Given the description of an element on the screen output the (x, y) to click on. 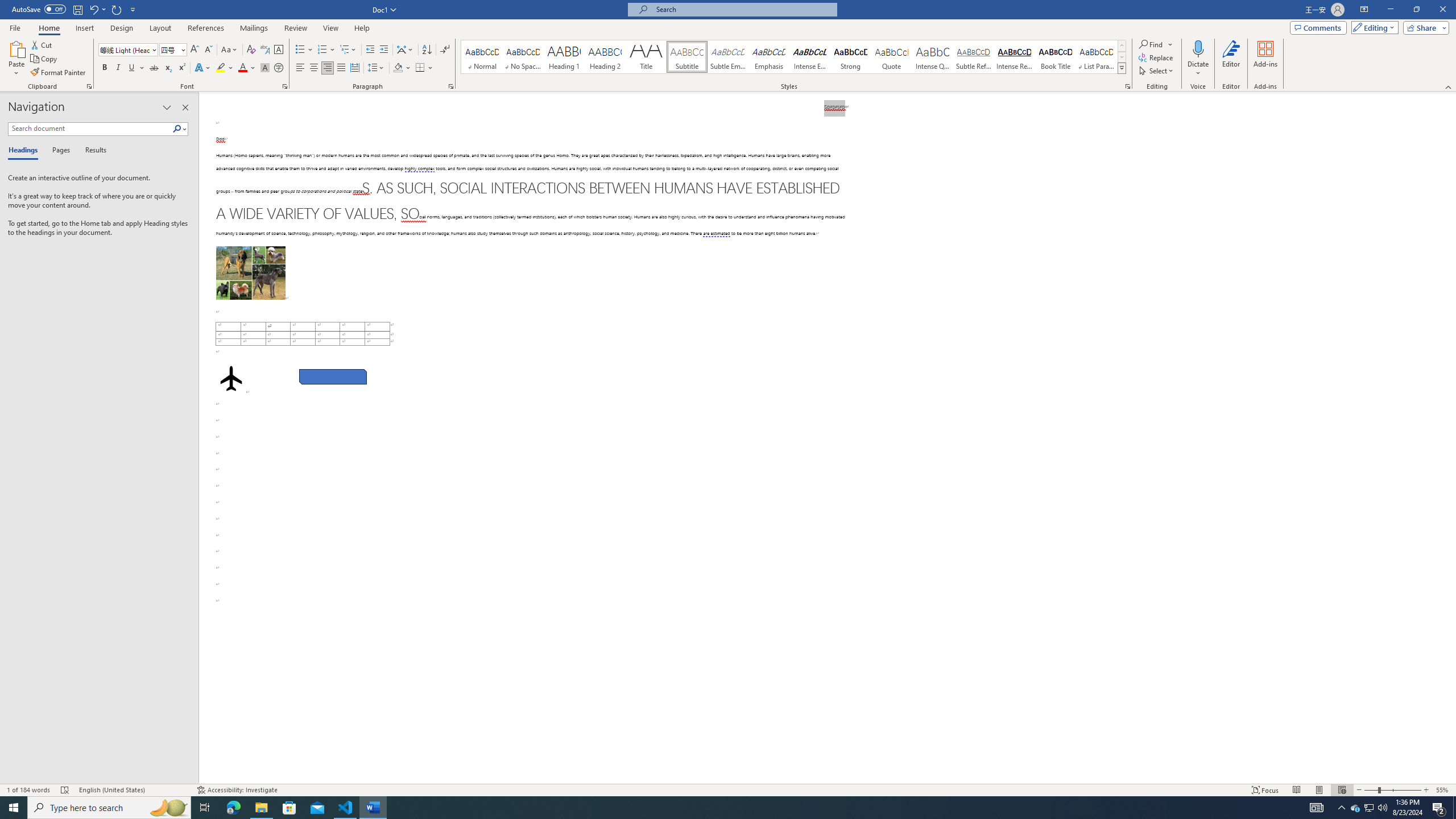
Clear Formatting (250, 49)
Numbering (322, 49)
Close pane (185, 107)
Emphasis (768, 56)
Font Size (172, 49)
Cut (42, 44)
View (330, 28)
Grow Font (193, 49)
Dictate (1197, 58)
Save (77, 9)
Mode (1372, 27)
Microsoft search (742, 9)
Styles (1121, 67)
